Given the description of an element on the screen output the (x, y) to click on. 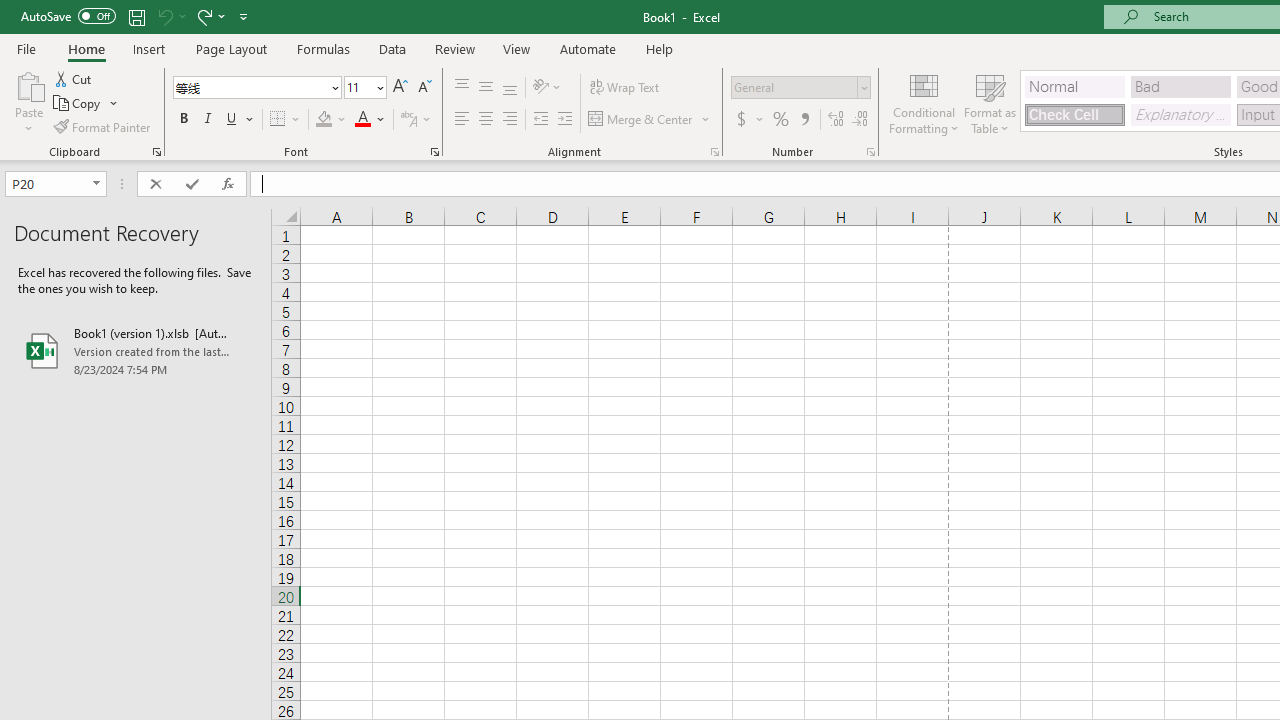
Number Format (794, 87)
Increase Decimal (836, 119)
Font Color (370, 119)
Wrap Text (624, 87)
Fill Color RGB(255, 255, 0) (324, 119)
Italic (207, 119)
Format as Table (990, 102)
Underline (232, 119)
Number Format (800, 87)
Show Phonetic Field (408, 119)
Underline (239, 119)
